Given the description of an element on the screen output the (x, y) to click on. 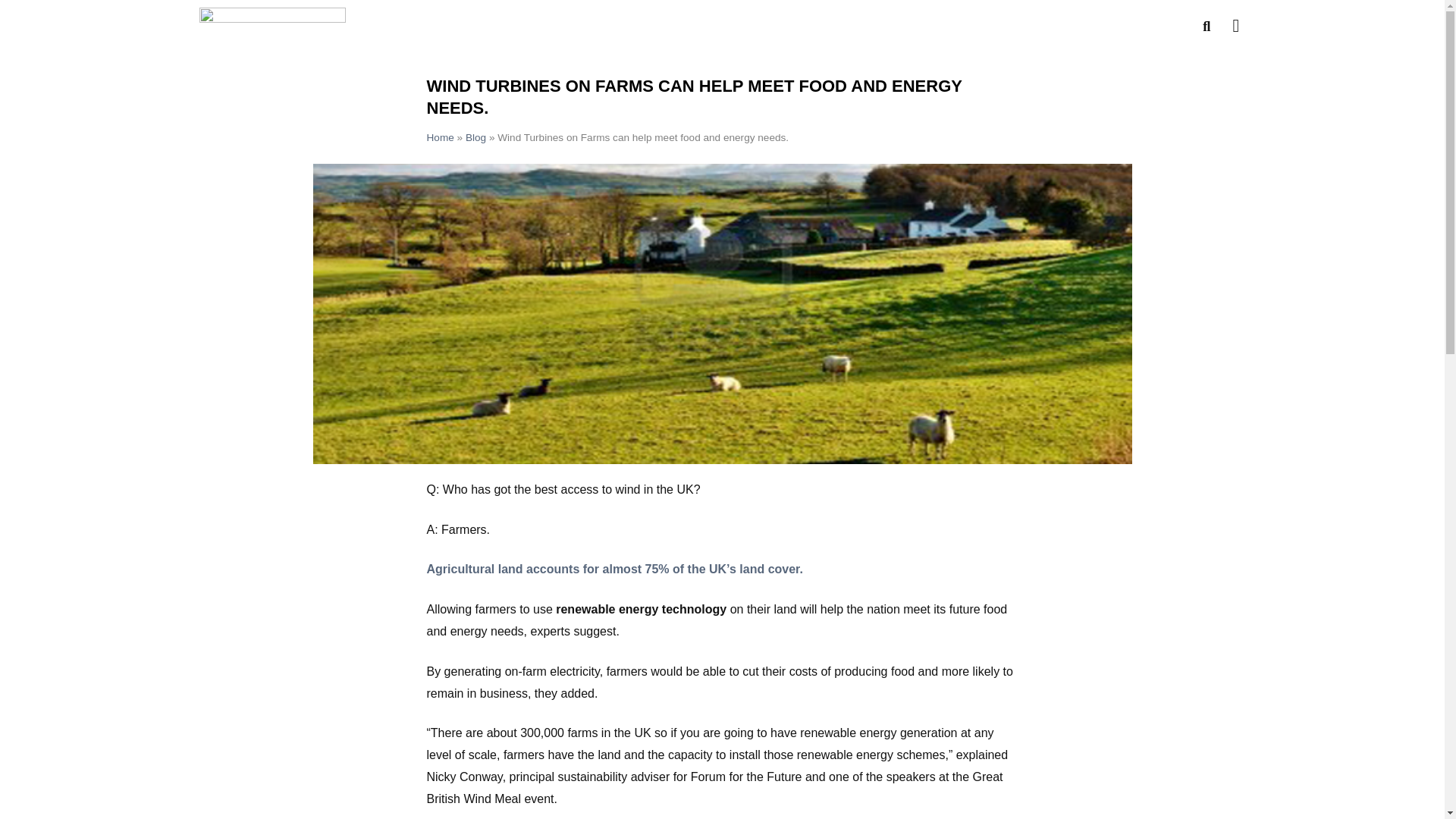
WIND TURBINES ON FARMS CAN HELP MEET FOOD AND ENERGY NEEDS. (693, 96)
Home (439, 137)
Blog (475, 137)
